Given the description of an element on the screen output the (x, y) to click on. 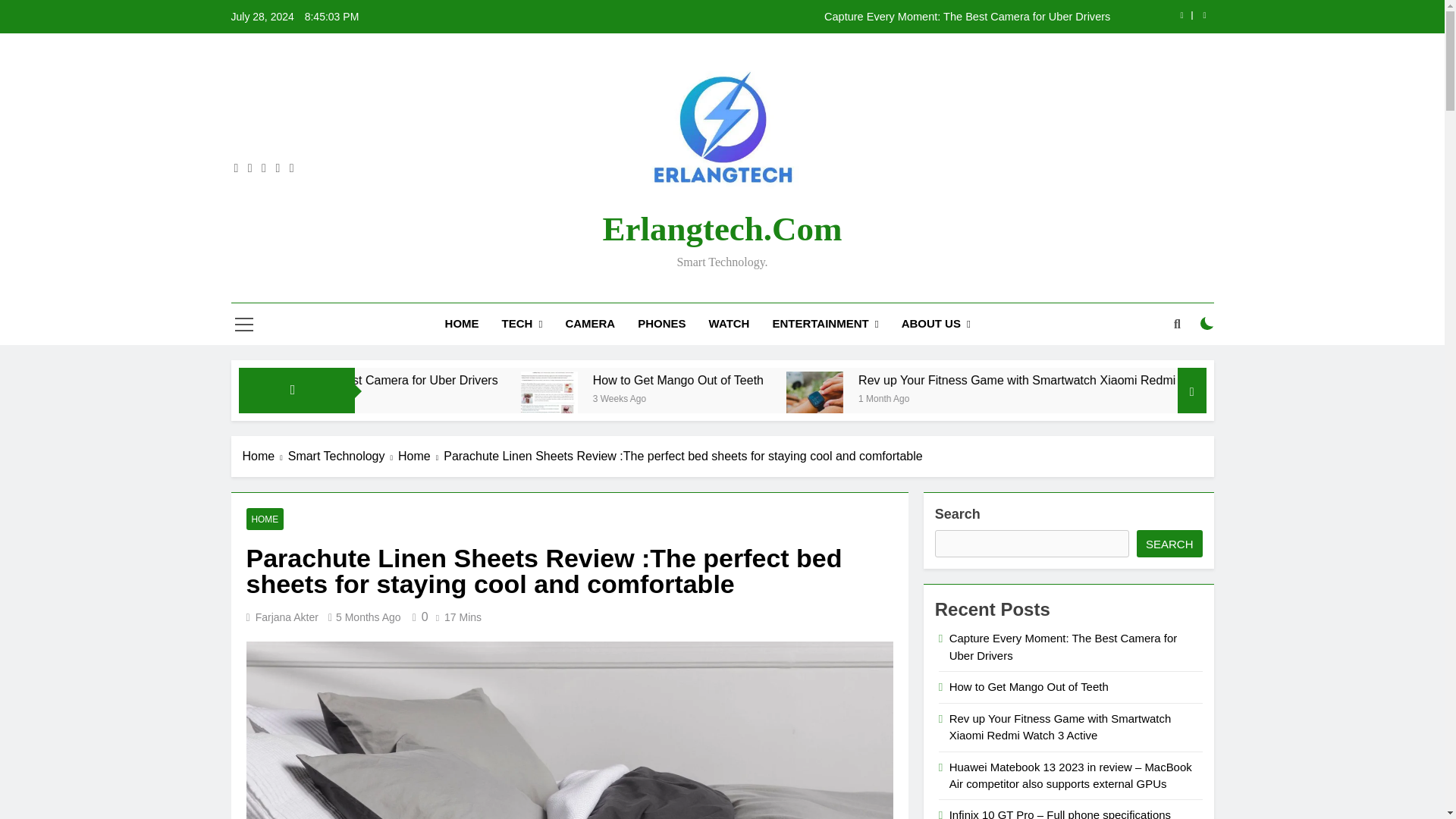
HOME (461, 323)
on (1206, 323)
Erlangtech.Com (721, 228)
Capture Every Moment: The Best Camera for Uber Drivers (499, 380)
CAMERA (589, 323)
How to Get Mango Out of Teeth (707, 399)
ENTERTAINMENT (824, 323)
PHONES (661, 323)
TECH (522, 323)
Capture Every Moment: The Best Camera for Uber Drivers (817, 16)
WATCH (729, 323)
Capture Every Moment: The Best Camera for Uber Drivers (817, 16)
